Given the description of an element on the screen output the (x, y) to click on. 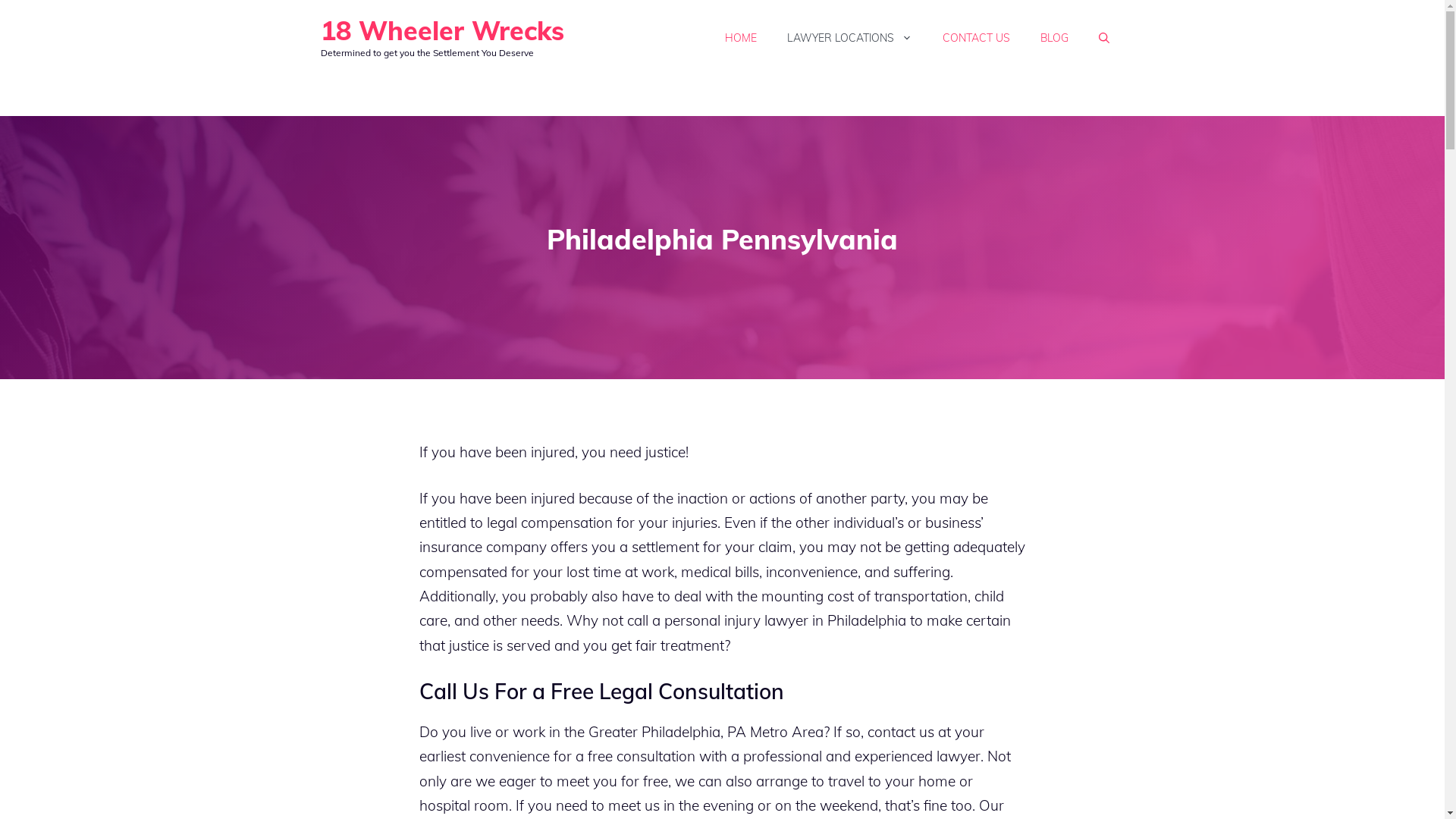
BLOG Element type: text (1054, 37)
CONTACT US Element type: text (975, 37)
HOME Element type: text (740, 37)
18 Wheeler Wrecks Element type: text (441, 30)
LAWYER LOCATIONS Element type: text (849, 37)
